Given the description of an element on the screen output the (x, y) to click on. 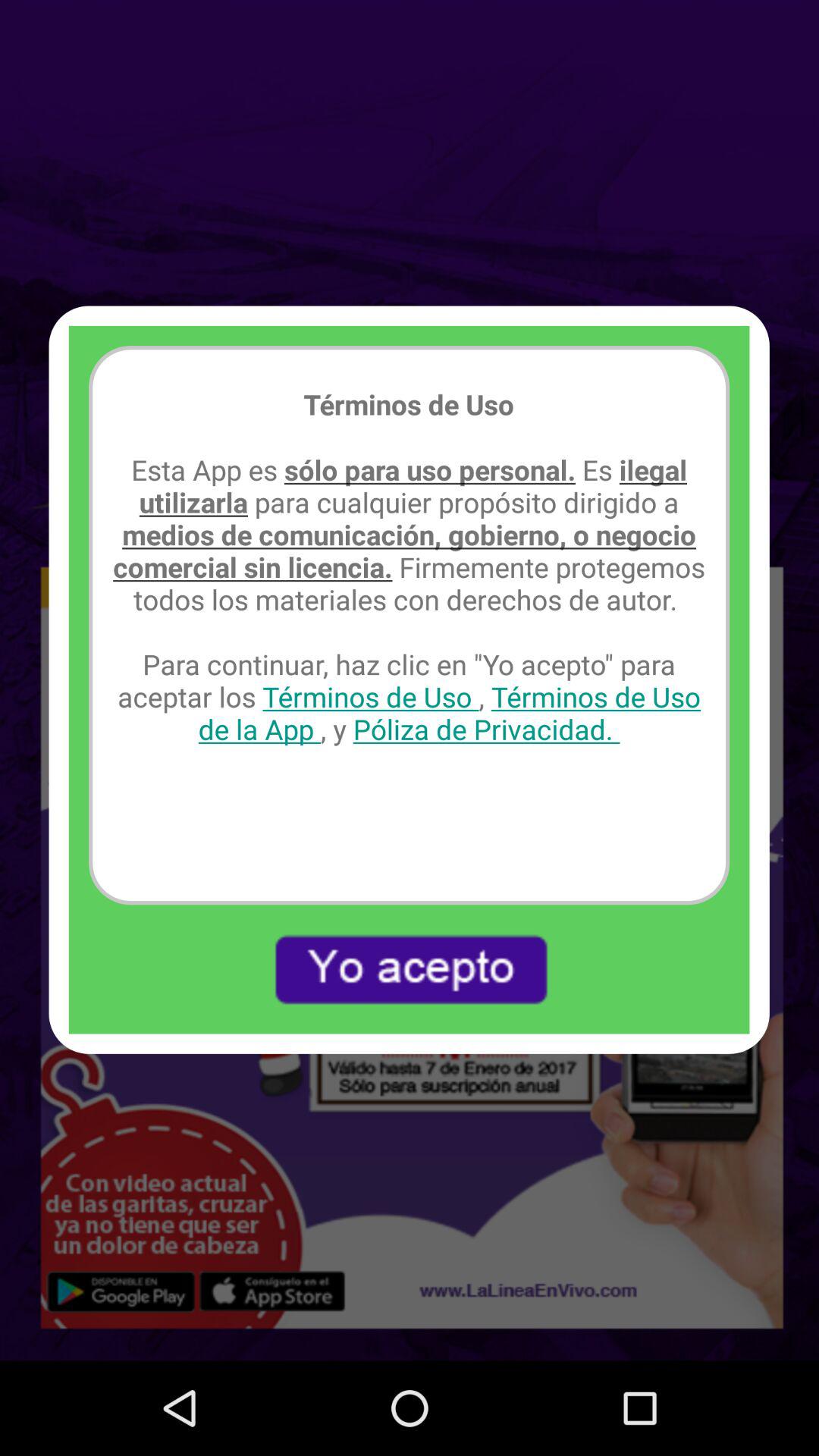
select item below esta app es app (409, 968)
